Given the description of an element on the screen output the (x, y) to click on. 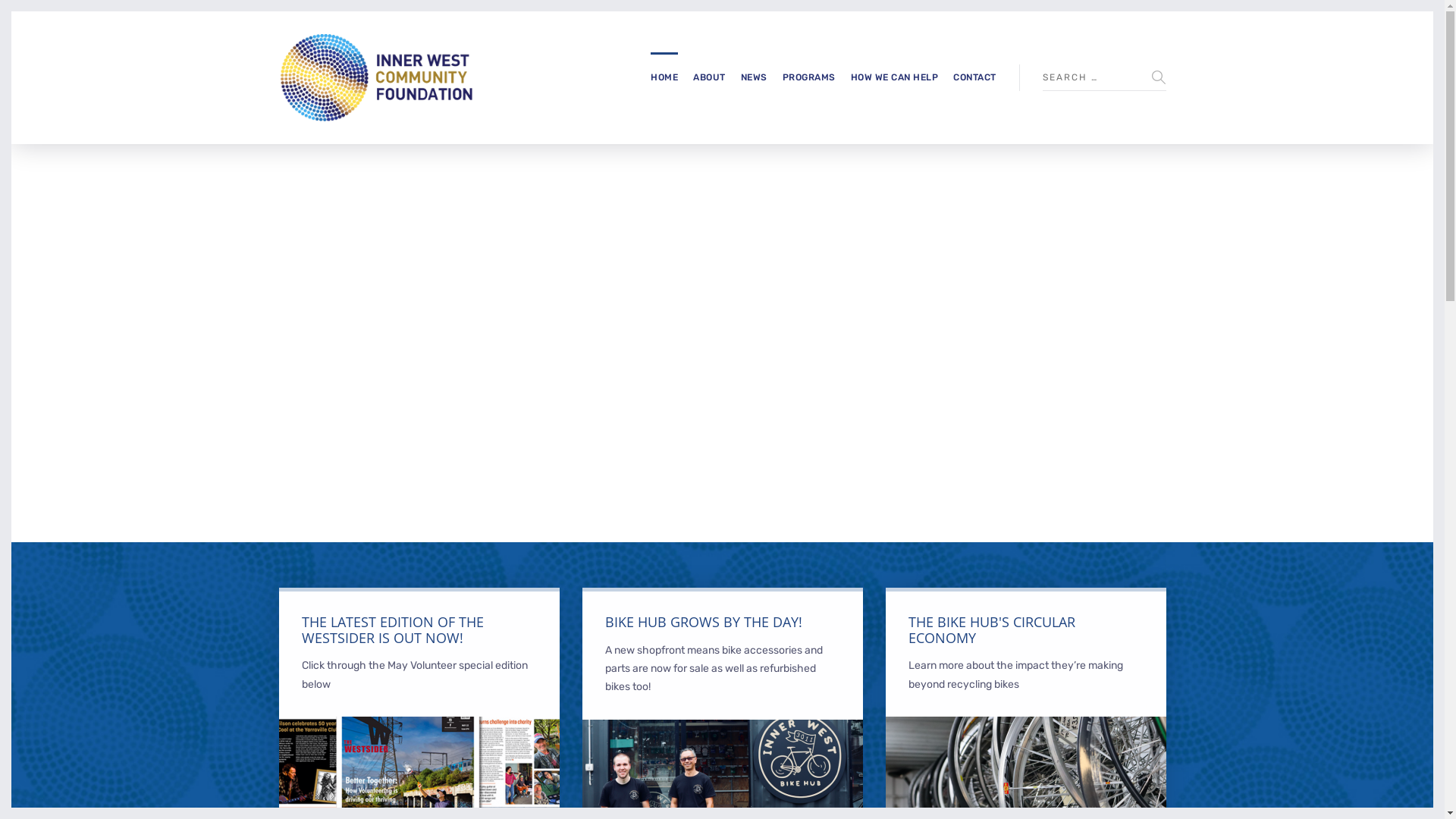
NEWS Element type: text (753, 77)
HOW WE CAN HELP Element type: text (894, 77)
LEARN MORE Element type: text (722, 727)
HOME Element type: text (663, 77)
LEARN MORE Element type: text (1025, 724)
LEARN MORE Element type: text (419, 724)
THE BIKE HUB'S CIRCULAR ECONOMY Element type: text (991, 629)
CONTACT Element type: text (974, 77)
Search Element type: text (7, 7)
ABOUT Element type: text (709, 77)
PROGRAMS Element type: text (808, 77)
THE LATEST EDITION OF THE WESTSIDER IS OUT NOW! Element type: text (392, 629)
Search Element type: text (1362, 90)
BIKE HUB GROWS BY THE DAY! Element type: text (703, 621)
Search Element type: text (1158, 76)
